Given the description of an element on the screen output the (x, y) to click on. 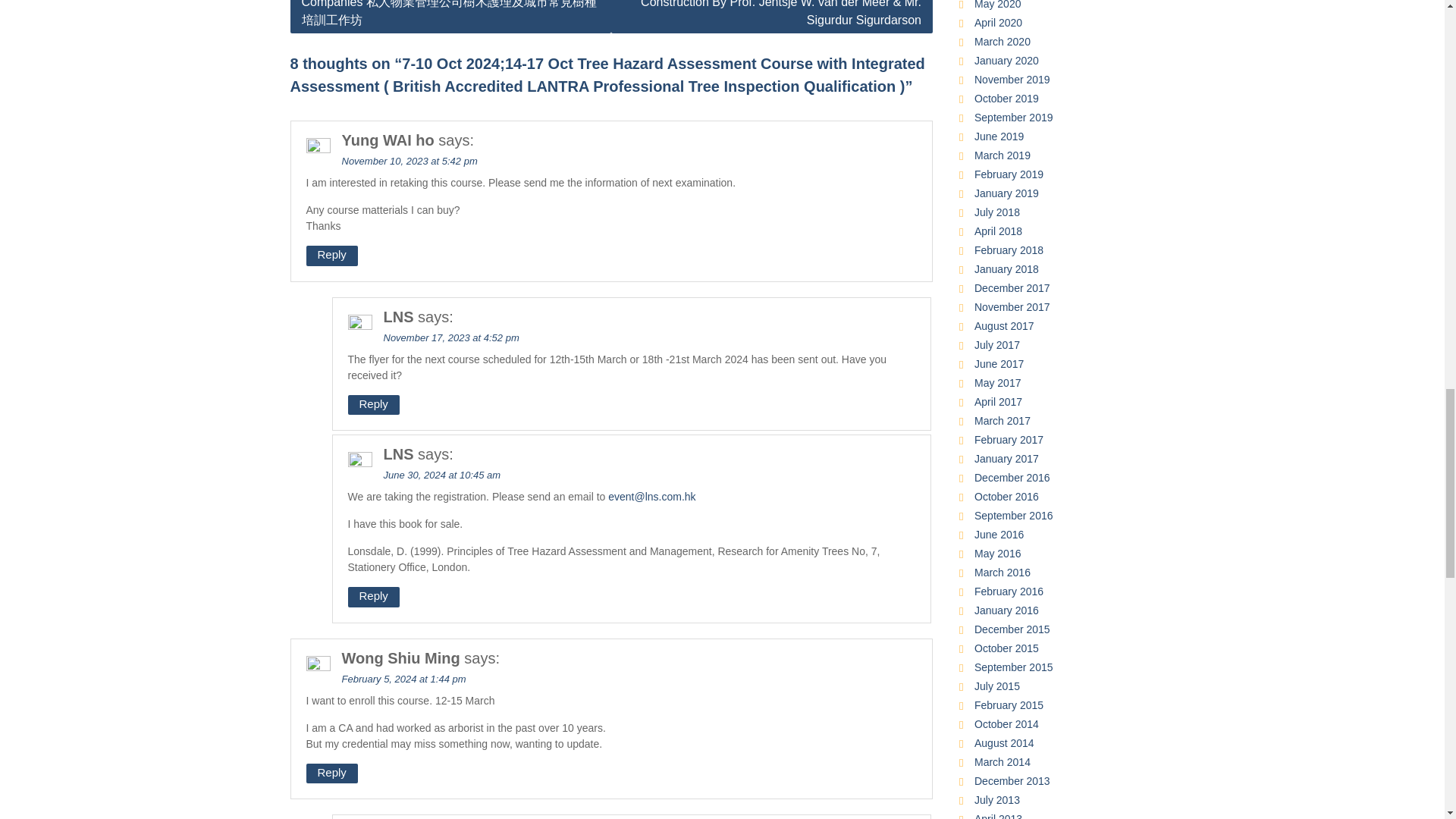
Reply (372, 597)
November 10, 2023 at 5:42 pm (408, 161)
February 5, 2024 at 1:44 pm (402, 678)
June 30, 2024 at 10:45 am (442, 474)
Reply (331, 255)
Reply (372, 404)
Reply (331, 773)
November 17, 2023 at 4:52 pm (451, 337)
